Given the description of an element on the screen output the (x, y) to click on. 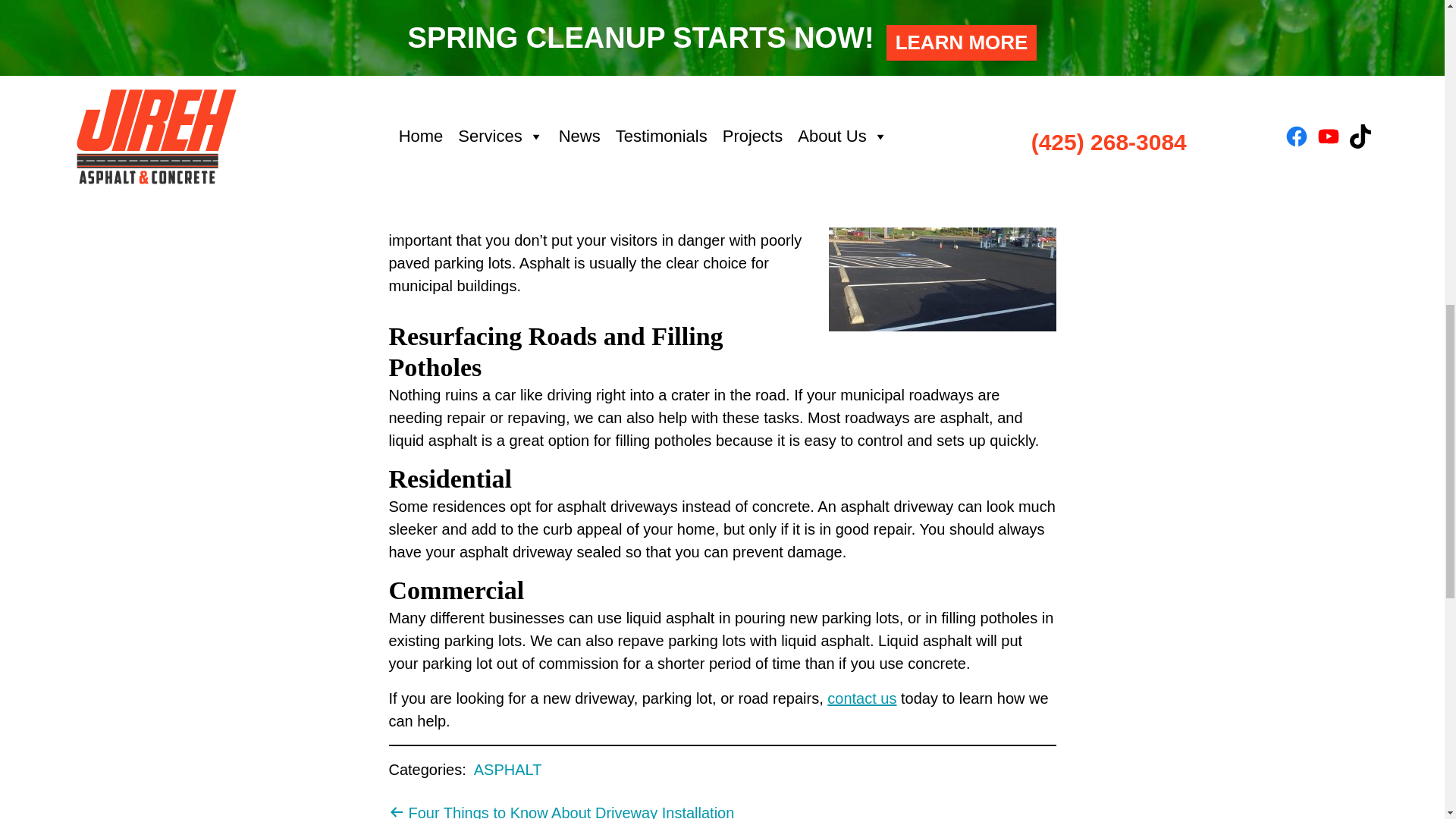
ASPHALT (507, 769)
asphalt (456, 61)
Common Uses for Liquid Asphalt 2 (941, 245)
Four Things to Know About Driveway Installation (560, 811)
parking lots (528, 106)
contact us (861, 698)
